Given the description of an element on the screen output the (x, y) to click on. 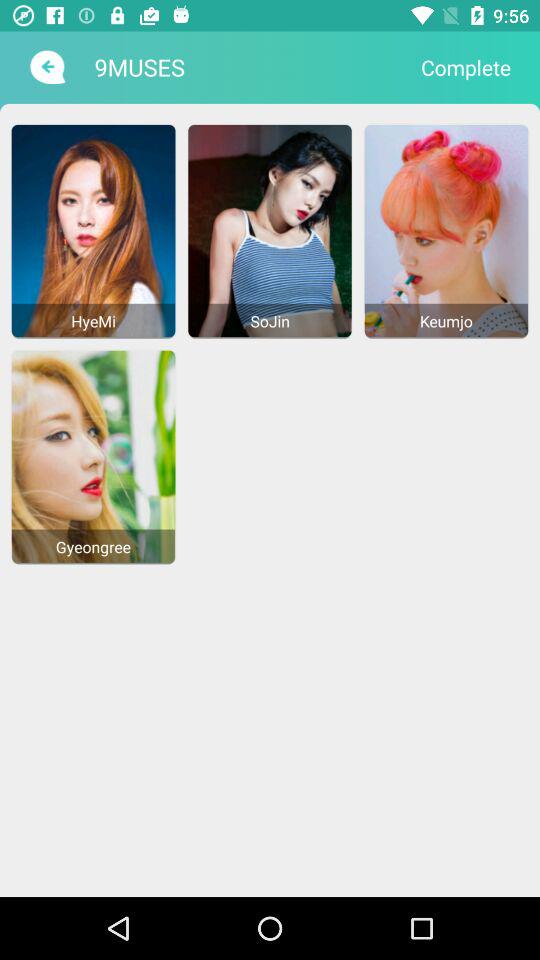
launch item next to the 9muses (45, 67)
